Given the description of an element on the screen output the (x, y) to click on. 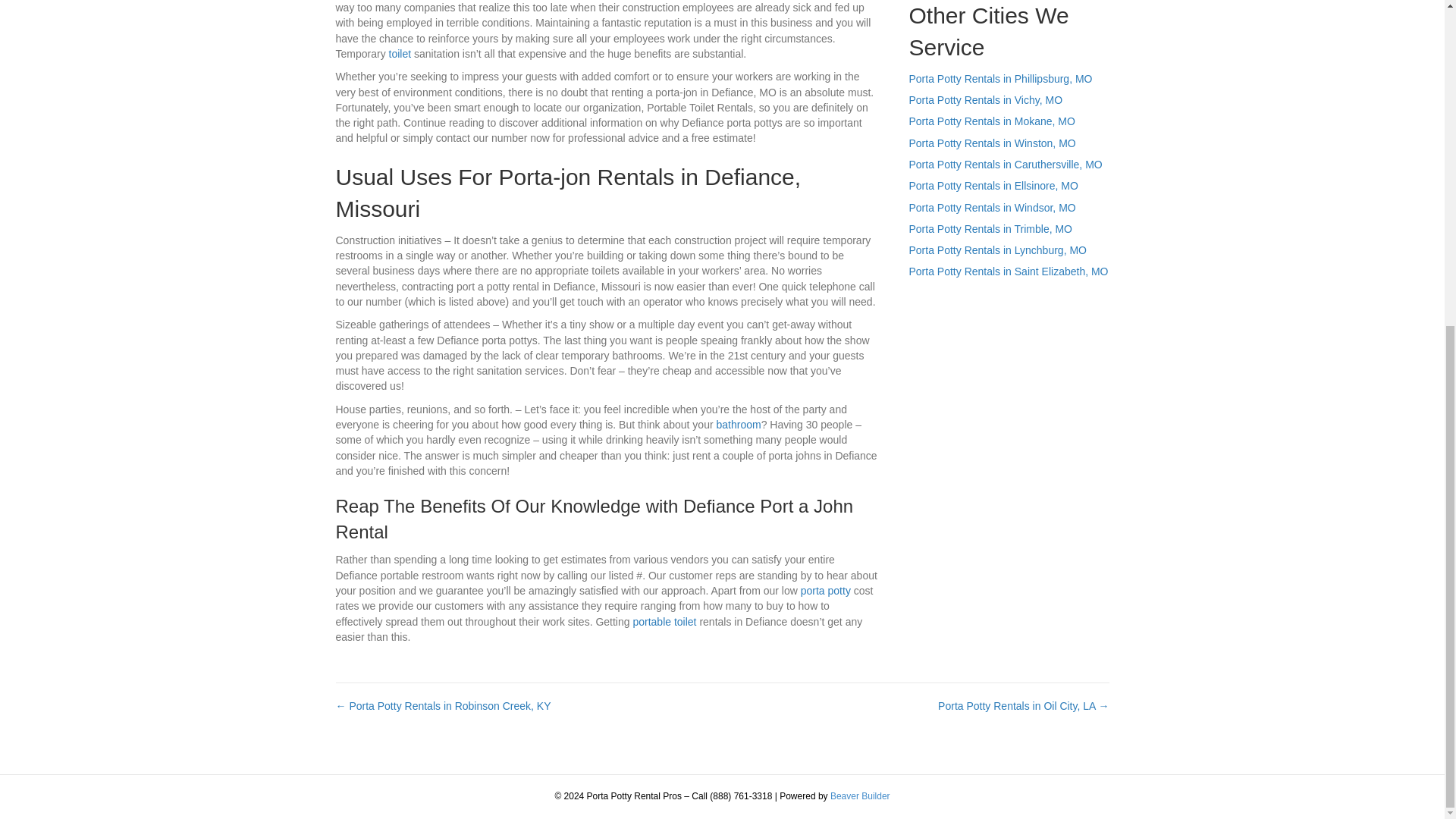
WordPress Page Builder Plugin (859, 796)
bathroom (738, 424)
Porta Potty Rentals in Mokane, MO (991, 121)
Porta Potty Rentals in Lynchburg, MO (997, 250)
Porta Potty Rentals in Phillipsburg, MO (1000, 78)
Porta Potty Rentals in Trimble, MO (989, 228)
Porta Potty Rentals in Windsor, MO (991, 207)
Porta Potty Rentals in Trimble, MO (989, 228)
Porta Potty Rentals in Lynchburg, MO (997, 250)
portable toilet (663, 621)
